Given the description of an element on the screen output the (x, y) to click on. 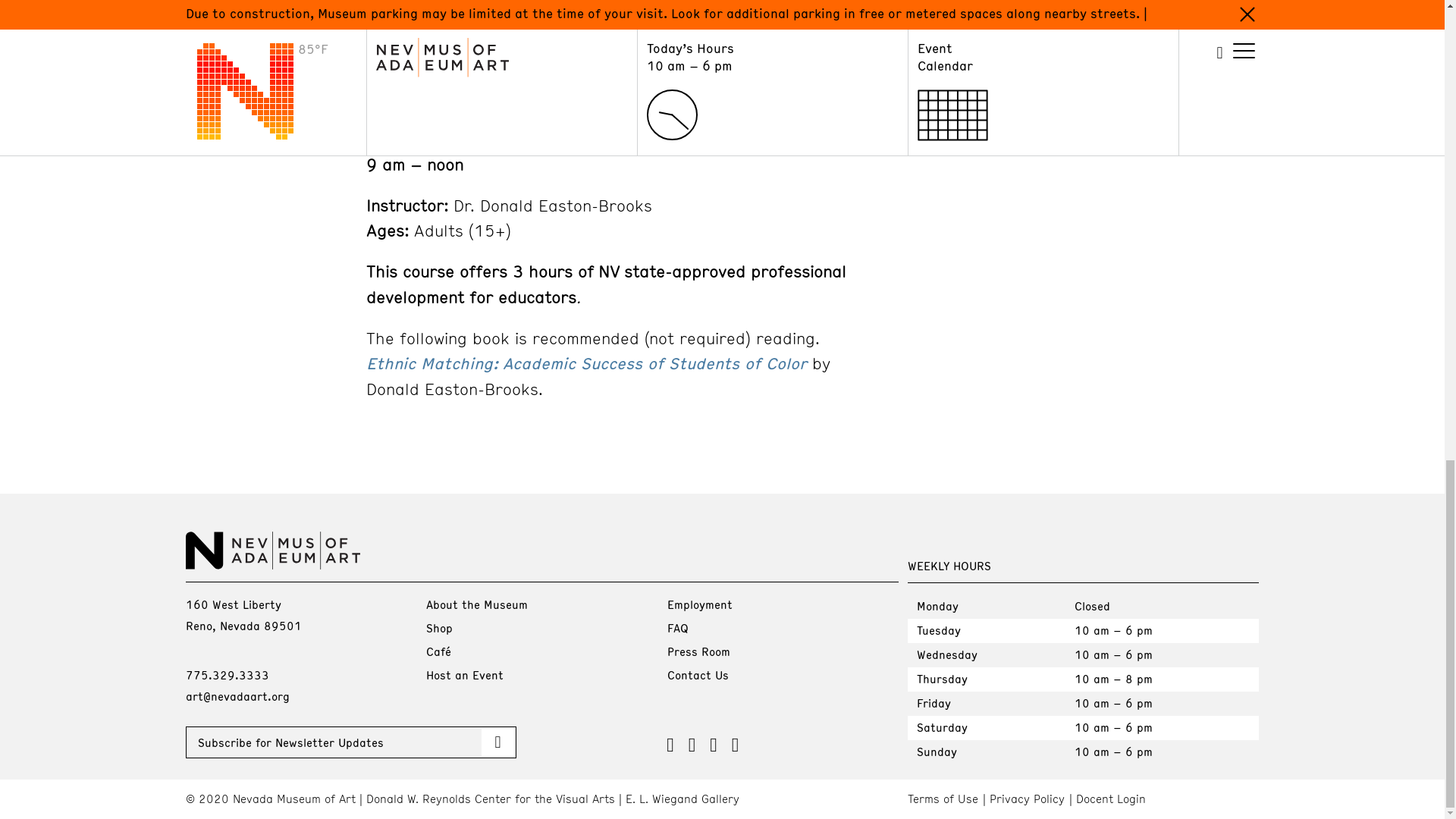
Shop (439, 627)
775.329.3333 (225, 674)
About the Museum (476, 603)
Press Room (698, 651)
Host an Event (464, 674)
FAQ (677, 627)
Ethnic Matching: Academic Success of Students of Color (585, 362)
Employment (699, 603)
